Given the description of an element on the screen output the (x, y) to click on. 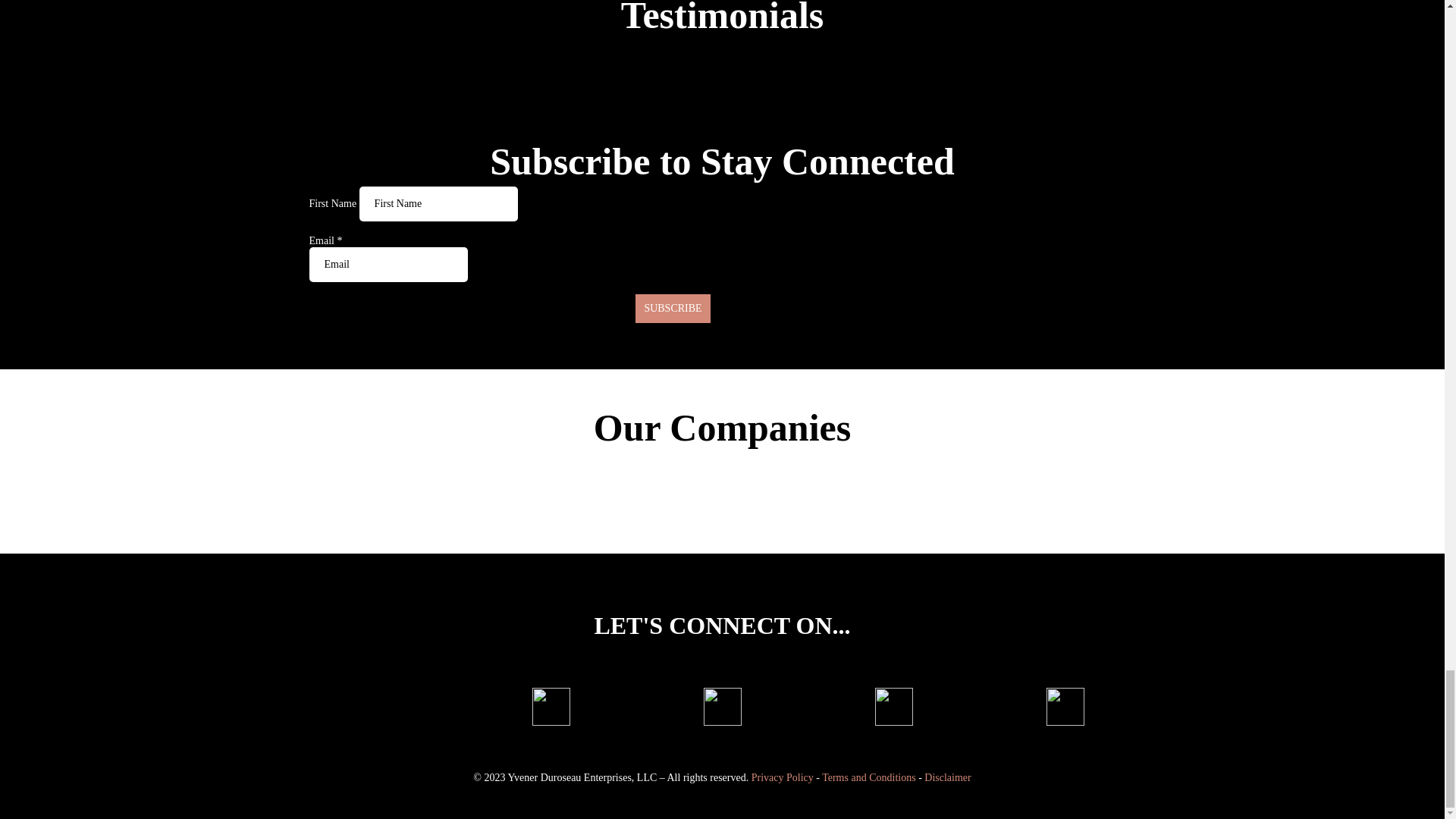
Terms and Conditions (868, 777)
Privacy Policy (782, 777)
Disclaimer (947, 777)
SUBSCRIBE (672, 308)
